Given the description of an element on the screen output the (x, y) to click on. 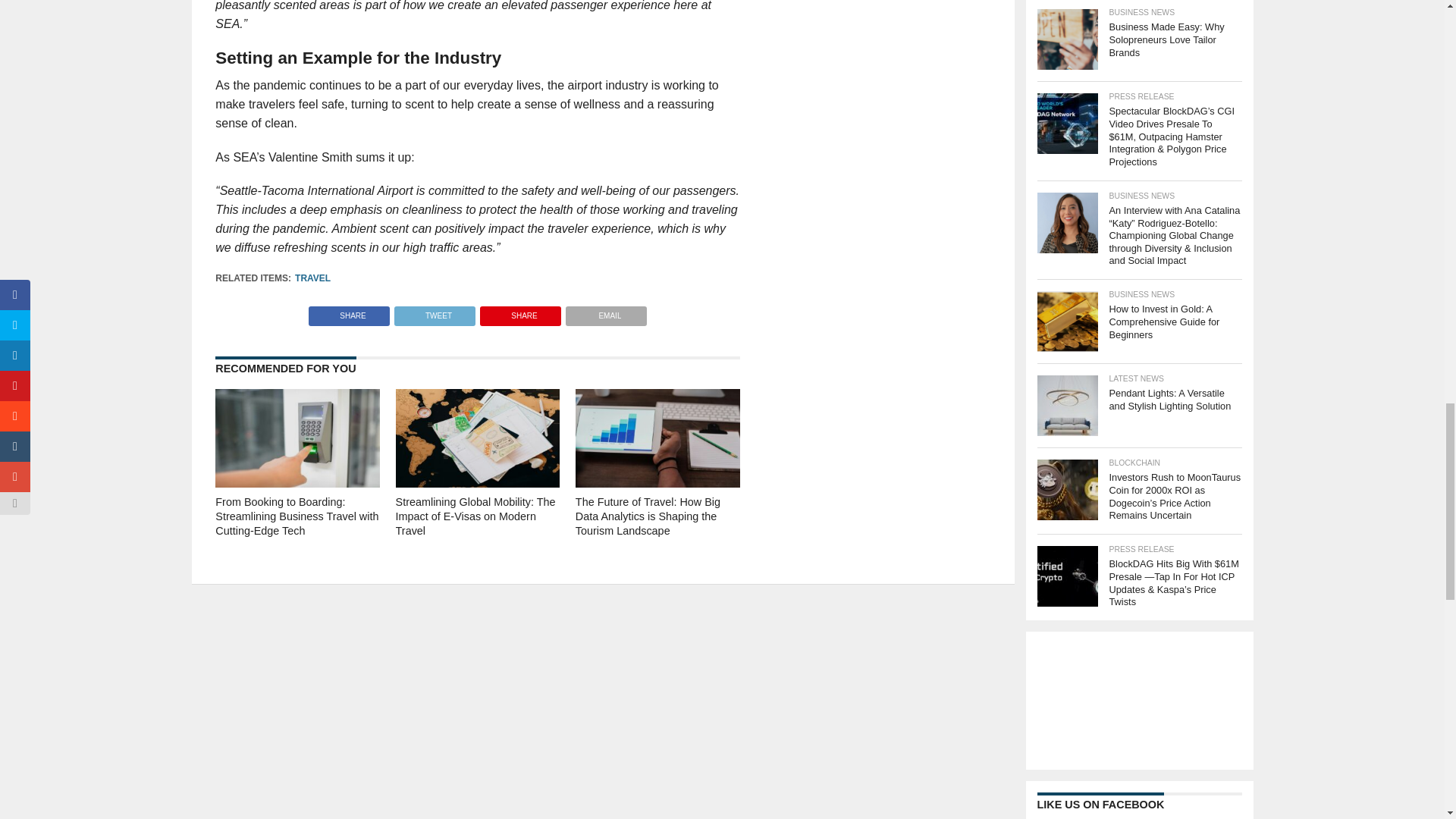
Tweet This Post (434, 311)
Share on Facebook (349, 311)
Pin This Post (520, 311)
